Given the description of an element on the screen output the (x, y) to click on. 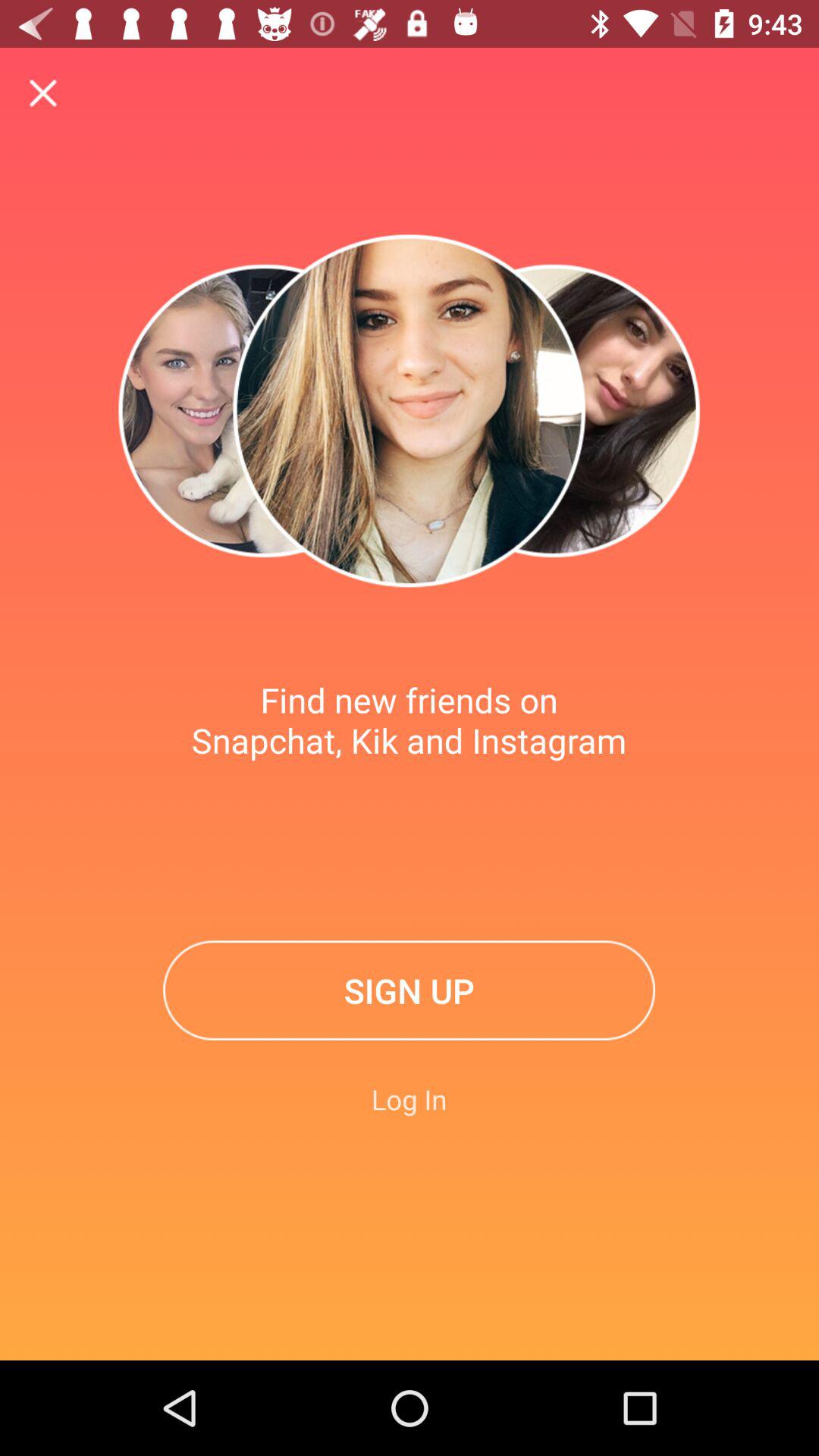
tap item below find new friends (409, 990)
